Given the description of an element on the screen output the (x, y) to click on. 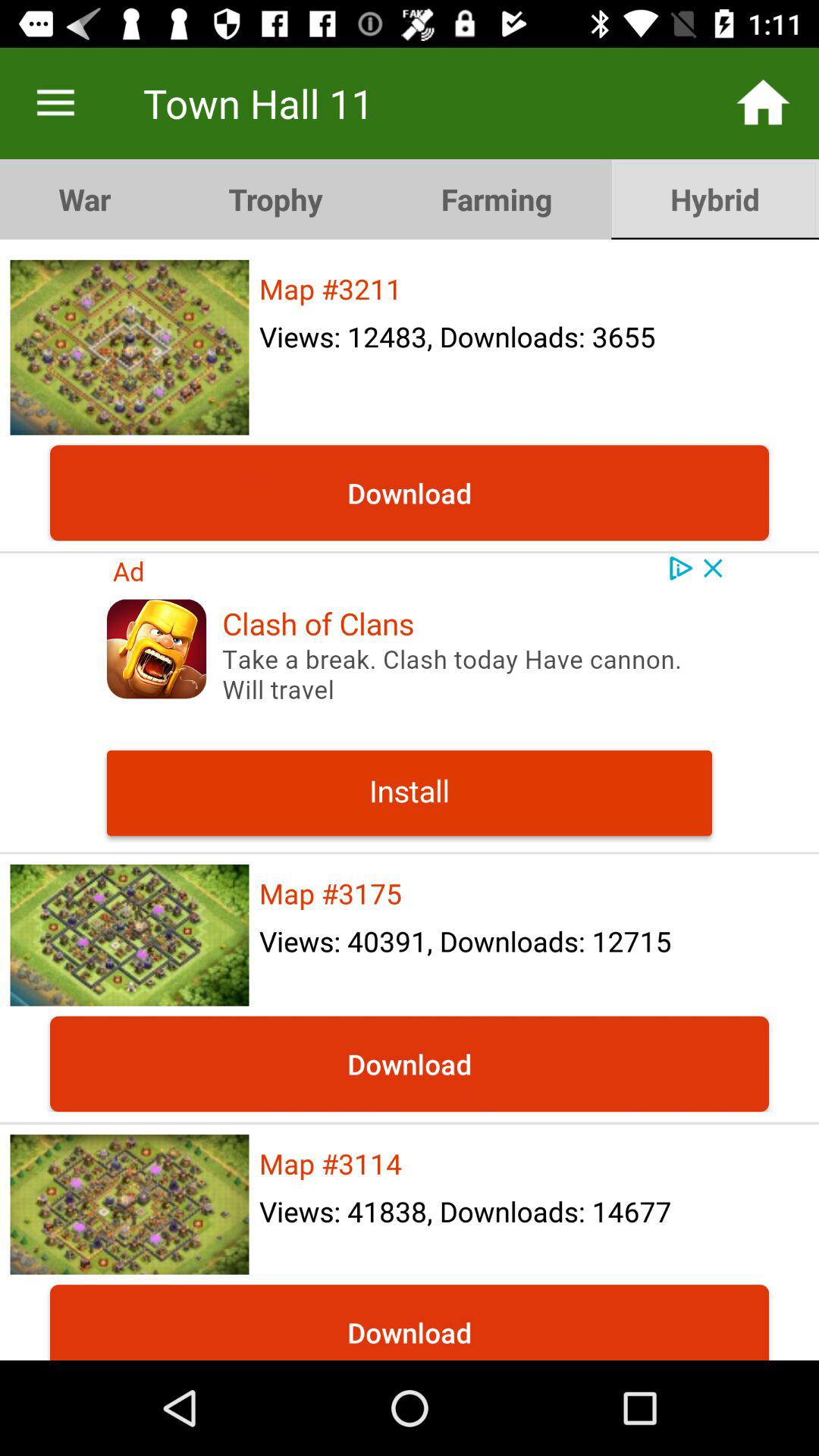
open menu (55, 103)
